Given the description of an element on the screen output the (x, y) to click on. 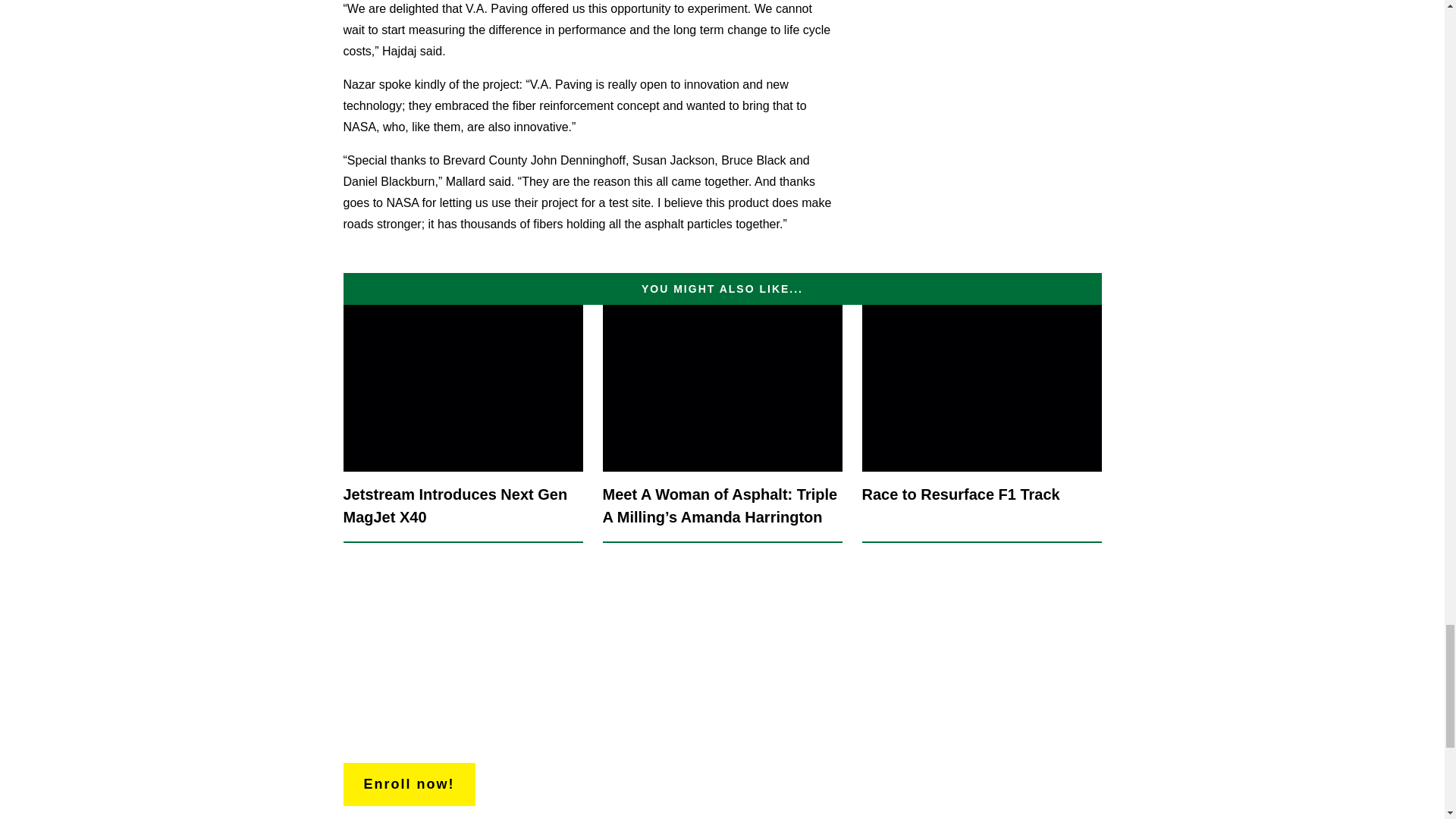
Jetstream Introduces Next Gen MagJet X40 (462, 423)
Race to Resurface F1 Track (980, 423)
Enroll now! (408, 783)
